Given the description of an element on the screen output the (x, y) to click on. 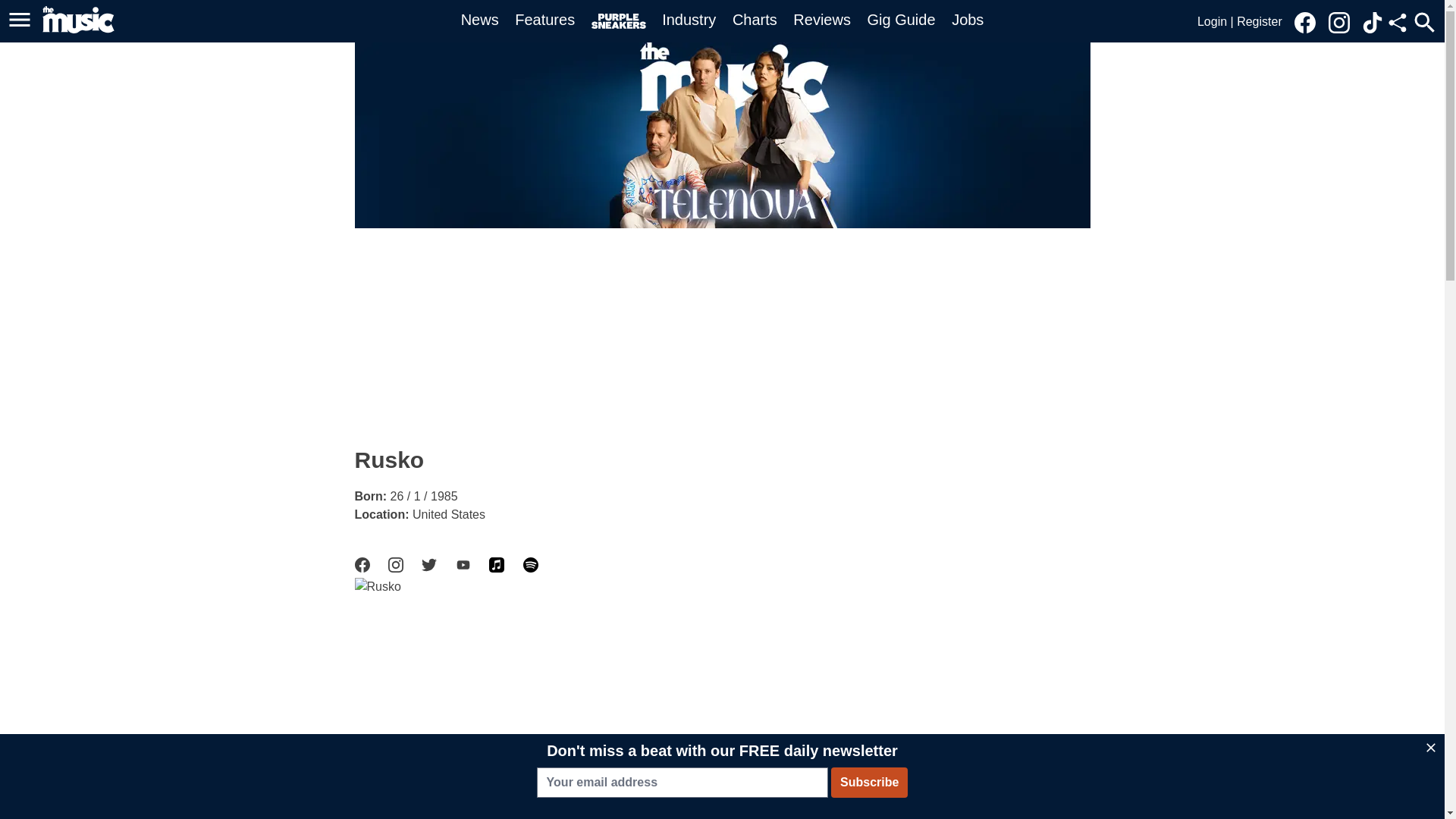
Register (1259, 21)
Link to our Instagram (1342, 21)
Industry (689, 19)
Gig Guide (901, 19)
Link to our TikTok (1372, 22)
Share this page (1397, 22)
Link to our Instagram (1338, 22)
Open the site search menu (1424, 22)
Link to our Facebook (1305, 22)
Share this page (1397, 22)
